Given the description of an element on the screen output the (x, y) to click on. 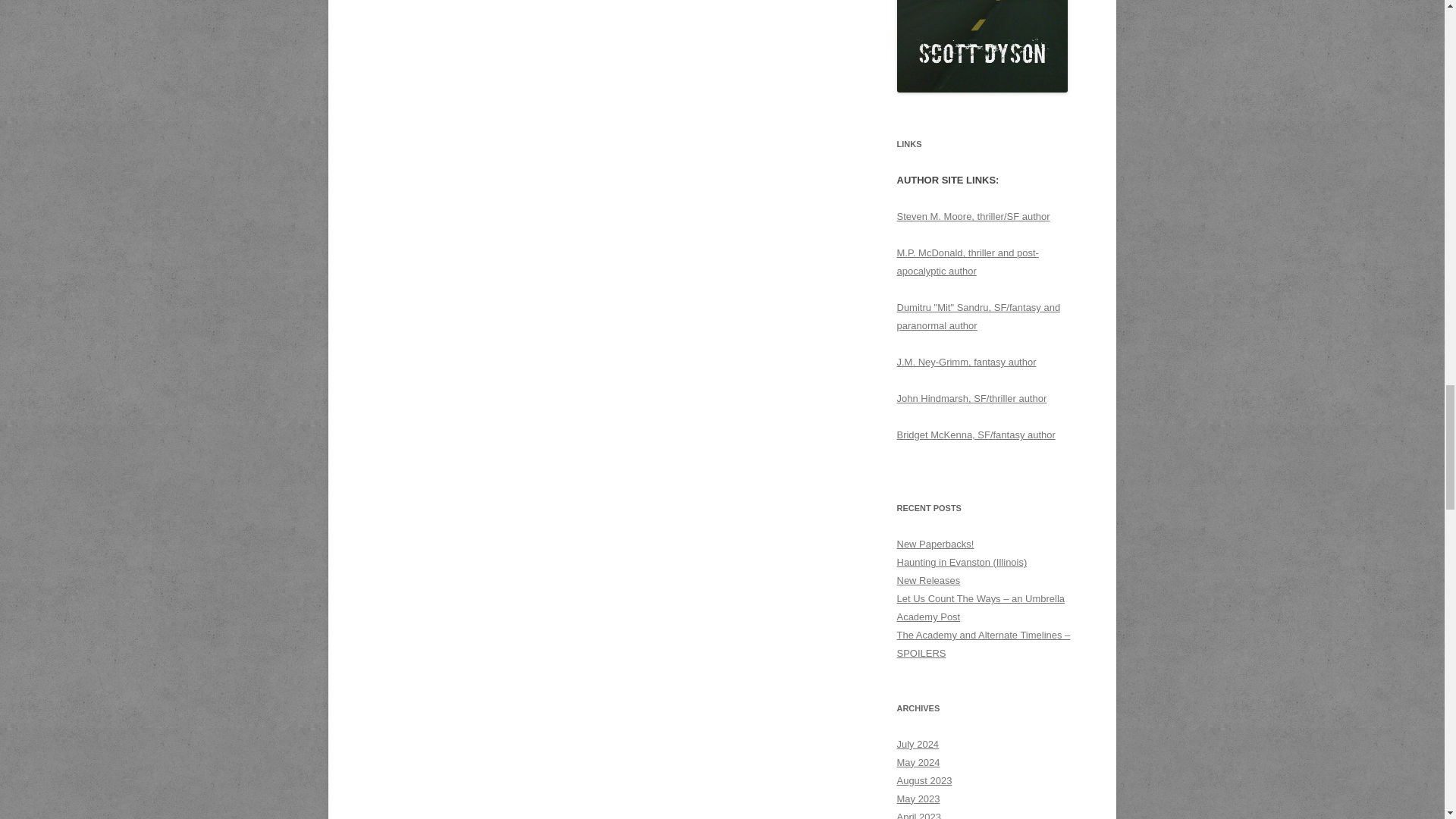
M.P. McDonald, thriller and post-apocalyptic author (967, 261)
J.M. Ney-Grimm, fantasy author (965, 361)
